Given the description of an element on the screen output the (x, y) to click on. 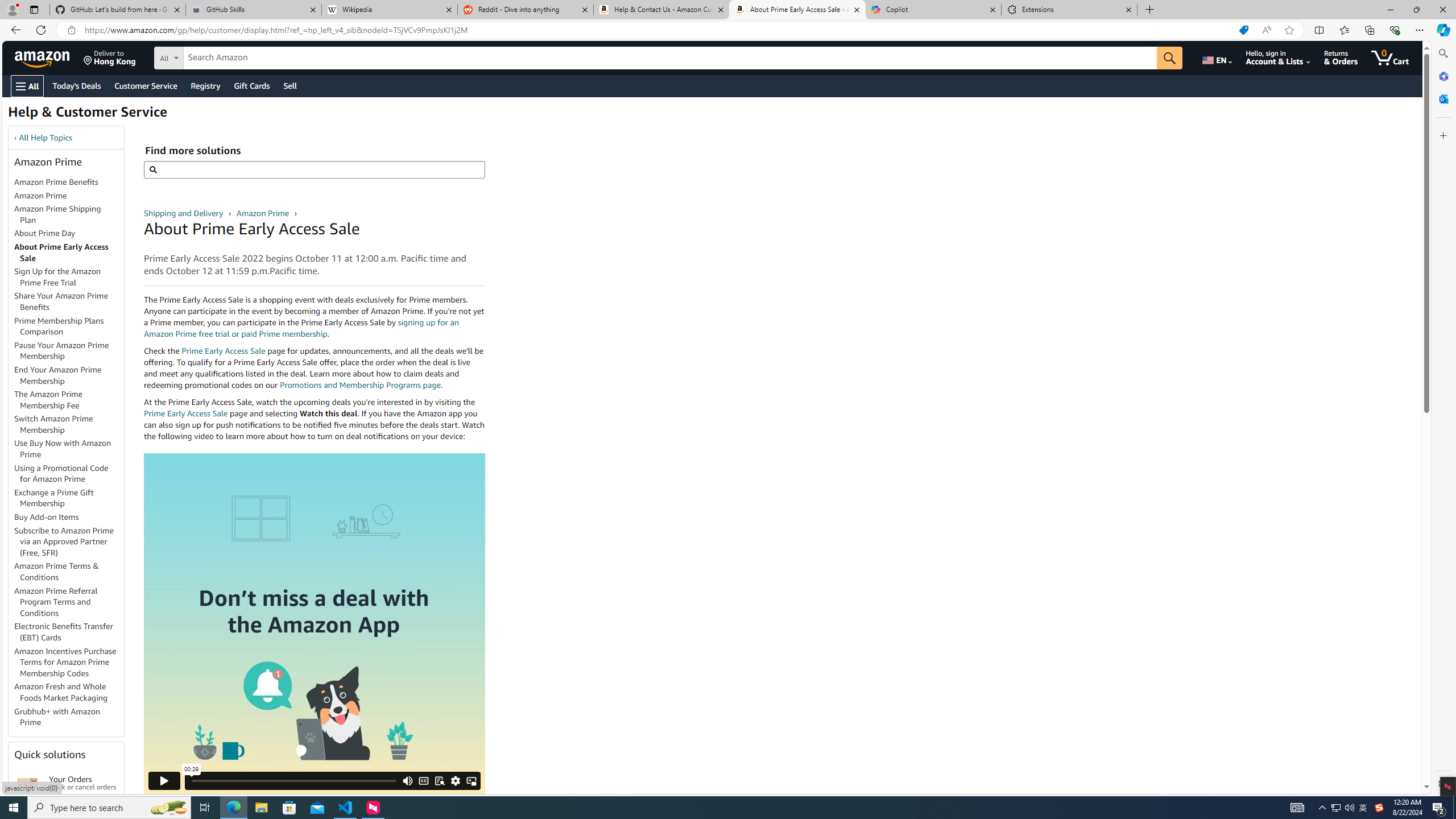
Prime Membership Plans Comparison (68, 326)
Switch Amazon Prime Membership (53, 423)
Prime Membership Plans Comparison (58, 326)
Buy Add-on Items (68, 517)
Exchange a Prime Gift Membership (68, 498)
Share Your Amazon Prime Benefits (68, 301)
Amazon Prime Terms & Conditions (68, 572)
Open Menu (26, 86)
The Amazon Prime Membership Fee (48, 399)
Your Orders (27, 782)
Extensions (1068, 9)
